Given the description of an element on the screen output the (x, y) to click on. 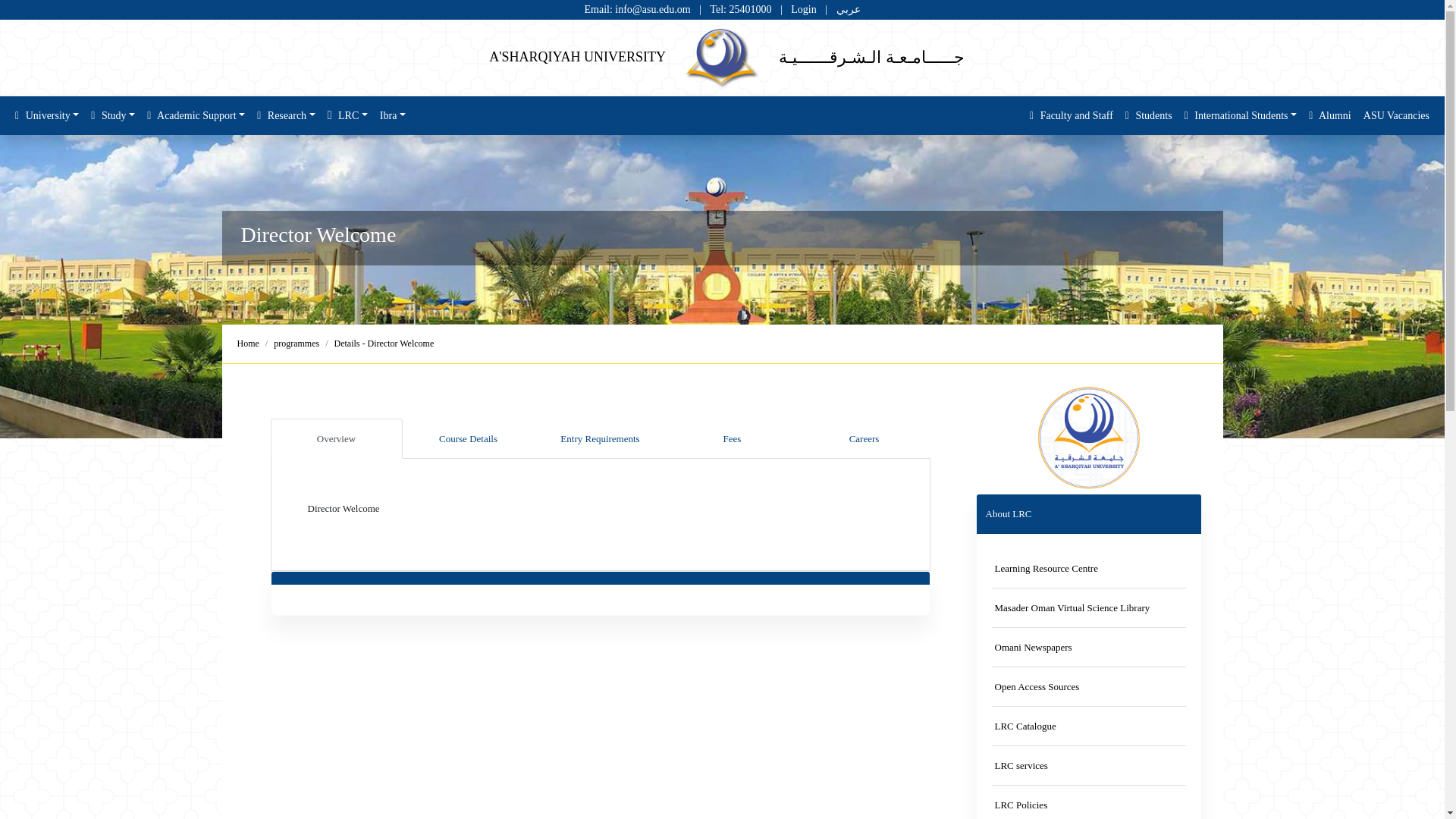
Login (802, 9)
University (46, 115)
Study (112, 115)
Tel: 25401000 (742, 9)
A'SHARQIYAH UNIVERSITY (577, 56)
